Given the description of an element on the screen output the (x, y) to click on. 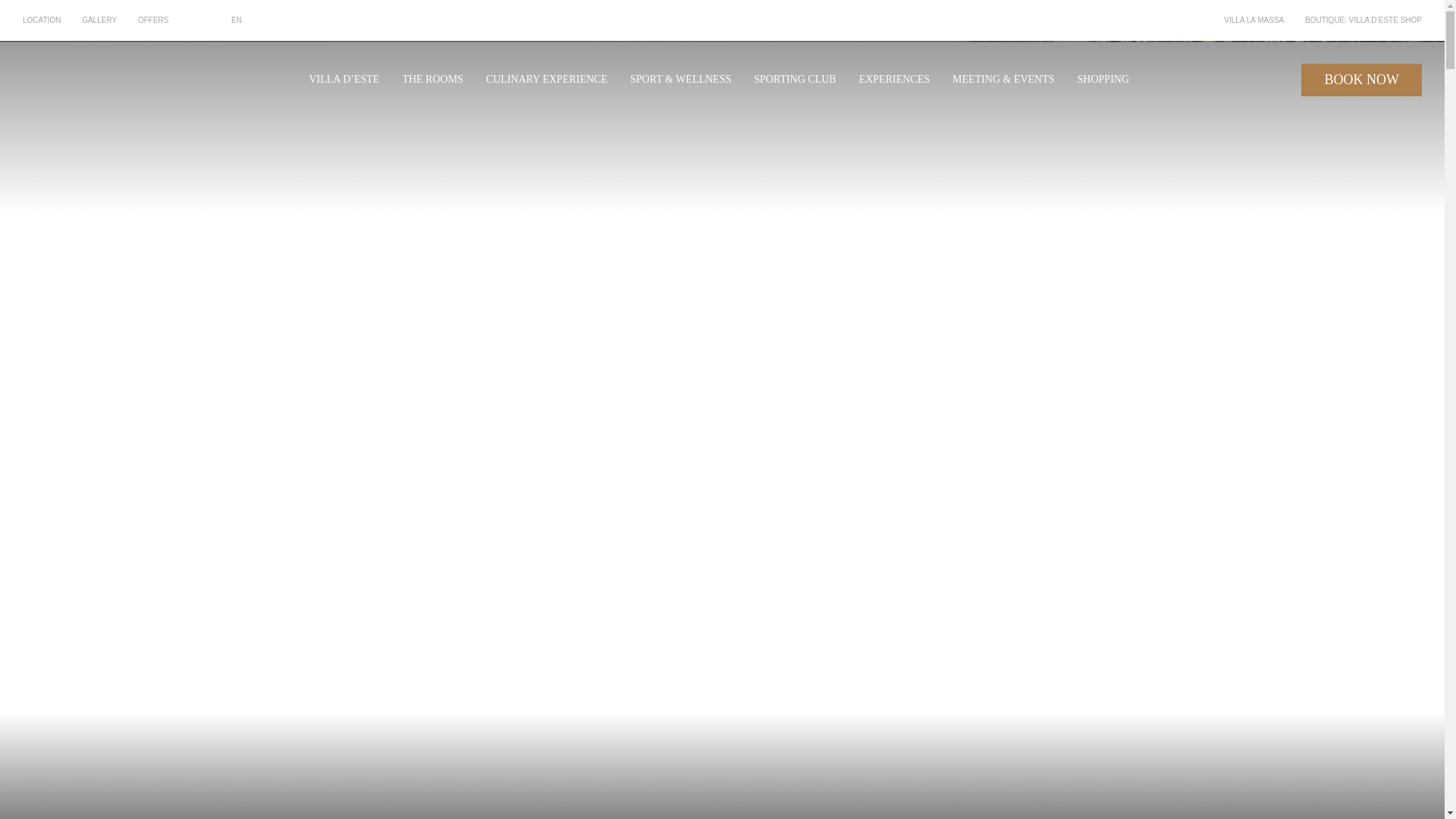
OFFERS (153, 19)
LOCATION (42, 19)
THE ROOMS (432, 79)
CULINARY EXPERIENCE (546, 79)
VILLA LA MASSA (1254, 19)
GALLERY (98, 19)
